Given the description of an element on the screen output the (x, y) to click on. 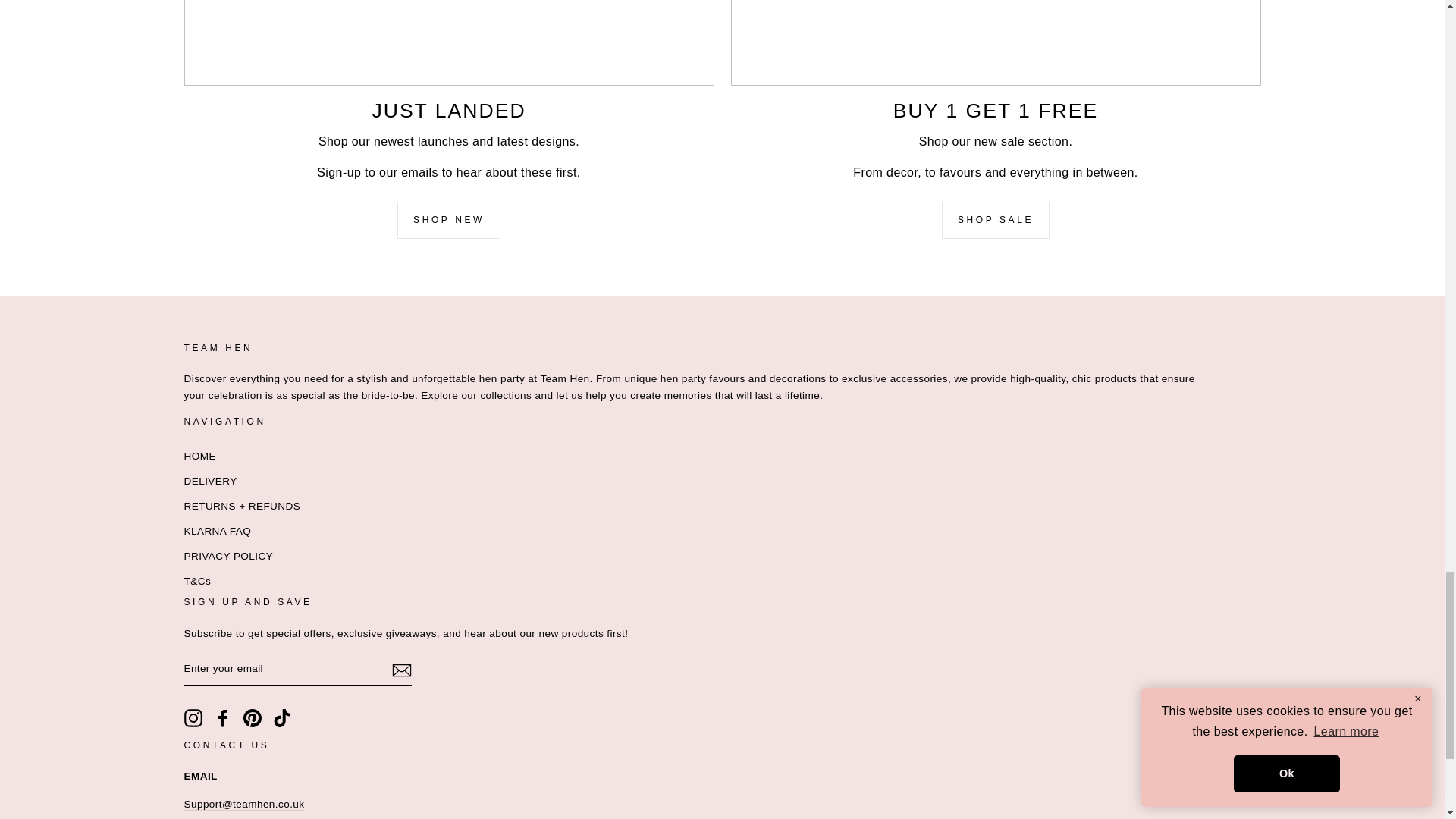
Team Hen on TikTok (282, 718)
Team Hen on Instagram (192, 718)
Team Hen on Pinterest (251, 718)
Team Hen on Facebook (222, 718)
